Given the description of an element on the screen output the (x, y) to click on. 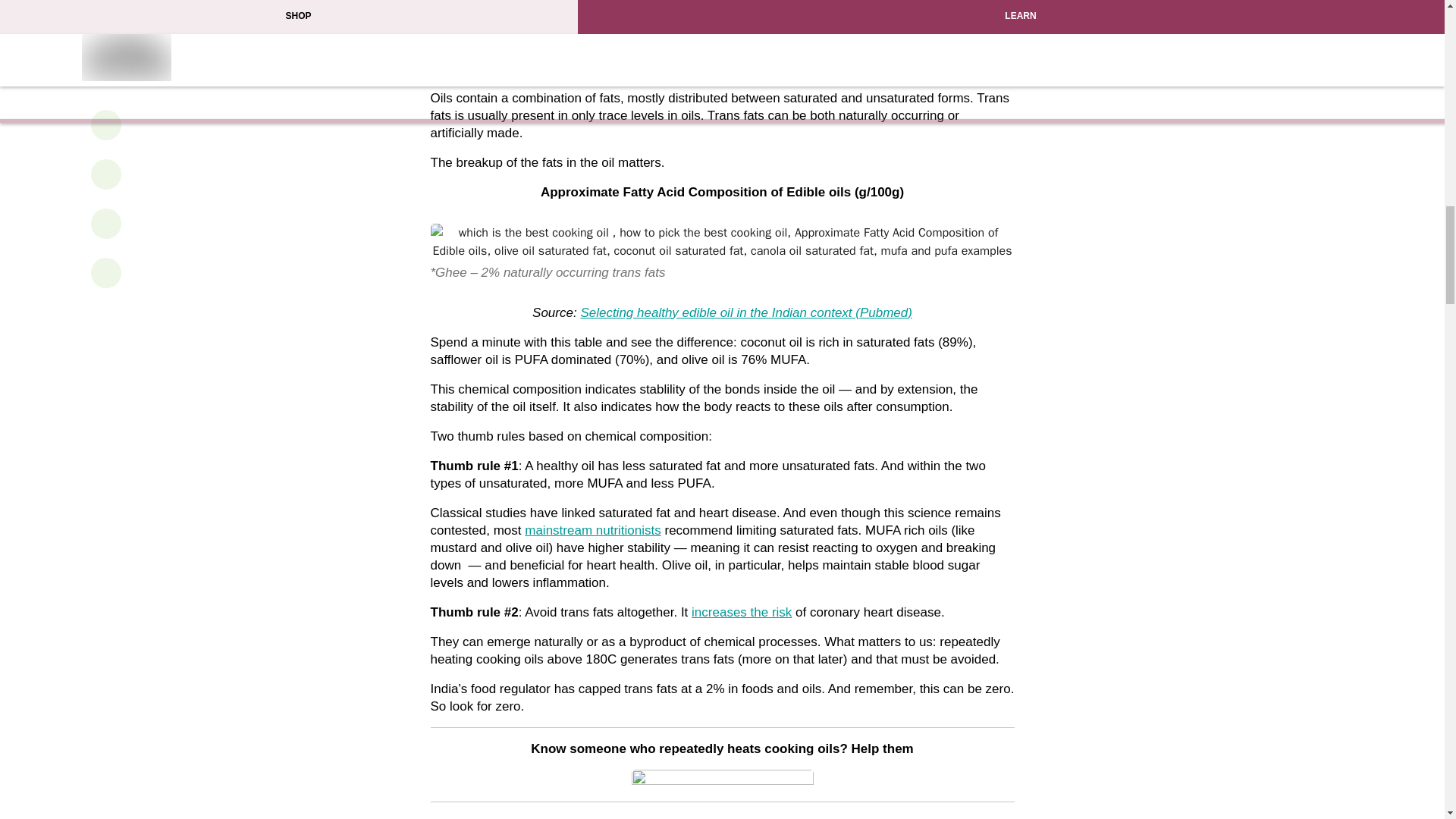
increases the risk (741, 612)
four primary dietary fats (557, 51)
mainstream nutritionists (592, 530)
